Given the description of an element on the screen output the (x, y) to click on. 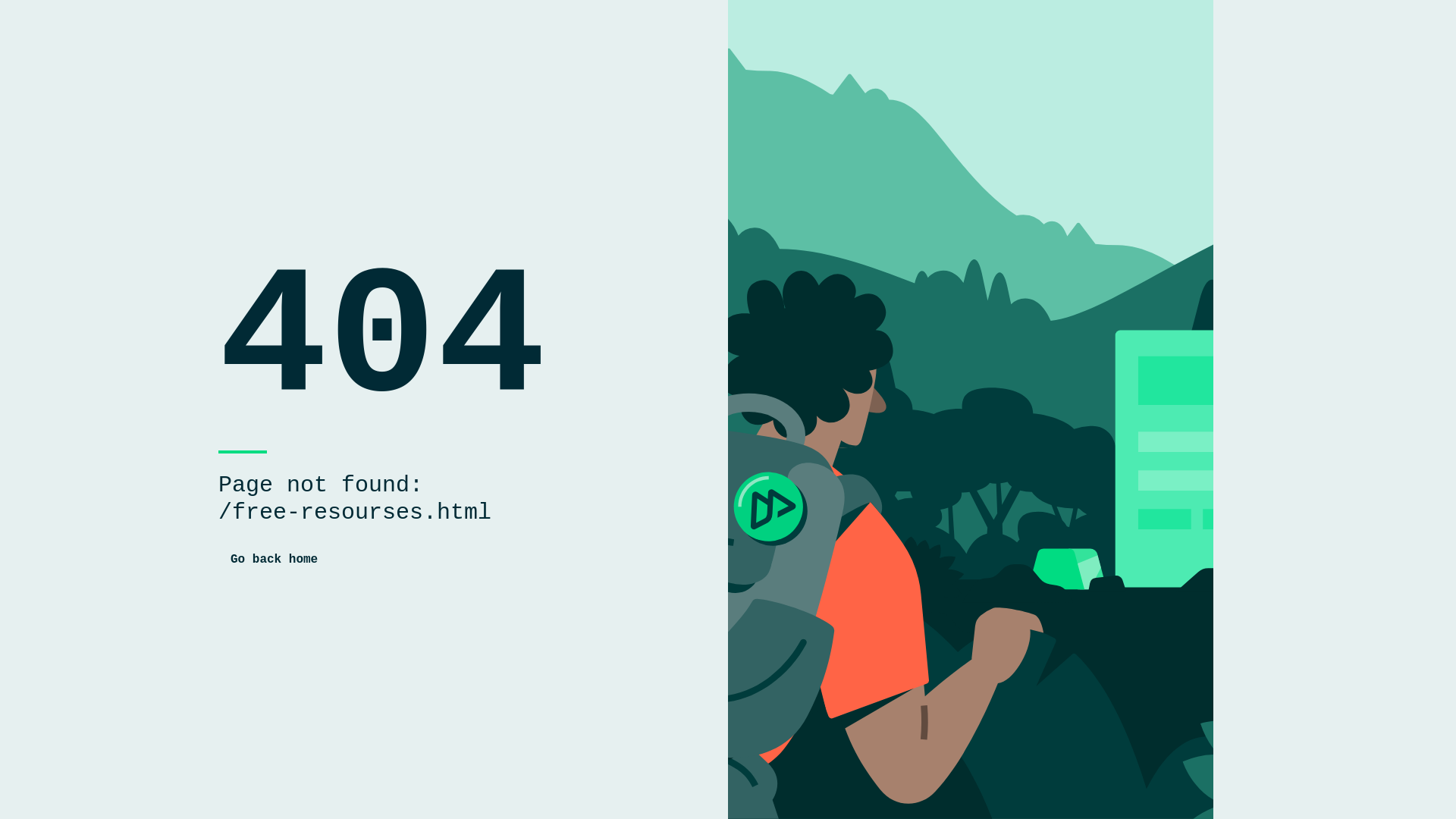
Go back home Element type: text (273, 559)
